Given the description of an element on the screen output the (x, y) to click on. 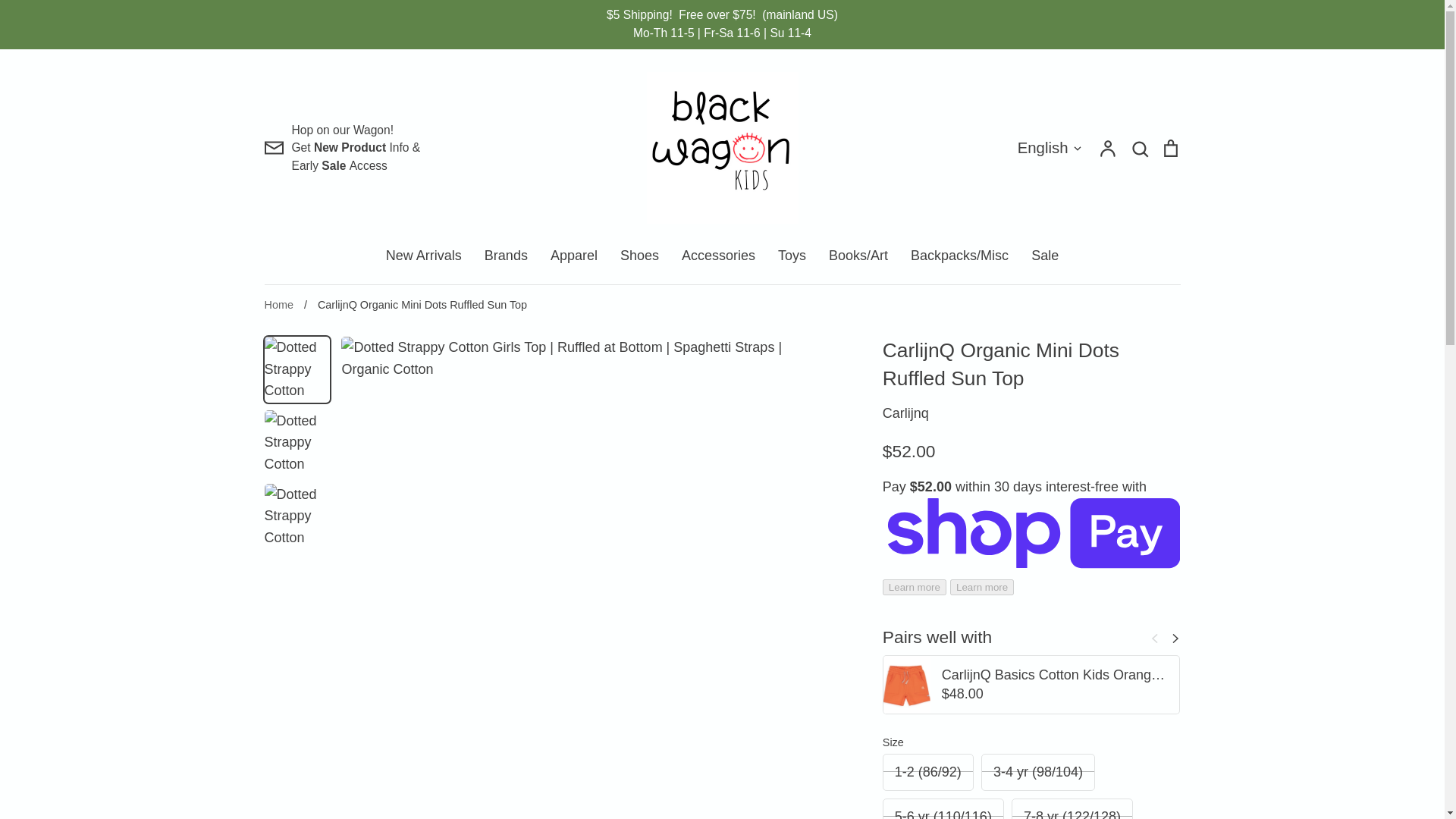
Cart (1169, 147)
New Arrivals (423, 255)
English (1050, 147)
Brands (505, 255)
Account (1107, 147)
Search (1139, 147)
